Given the description of an element on the screen output the (x, y) to click on. 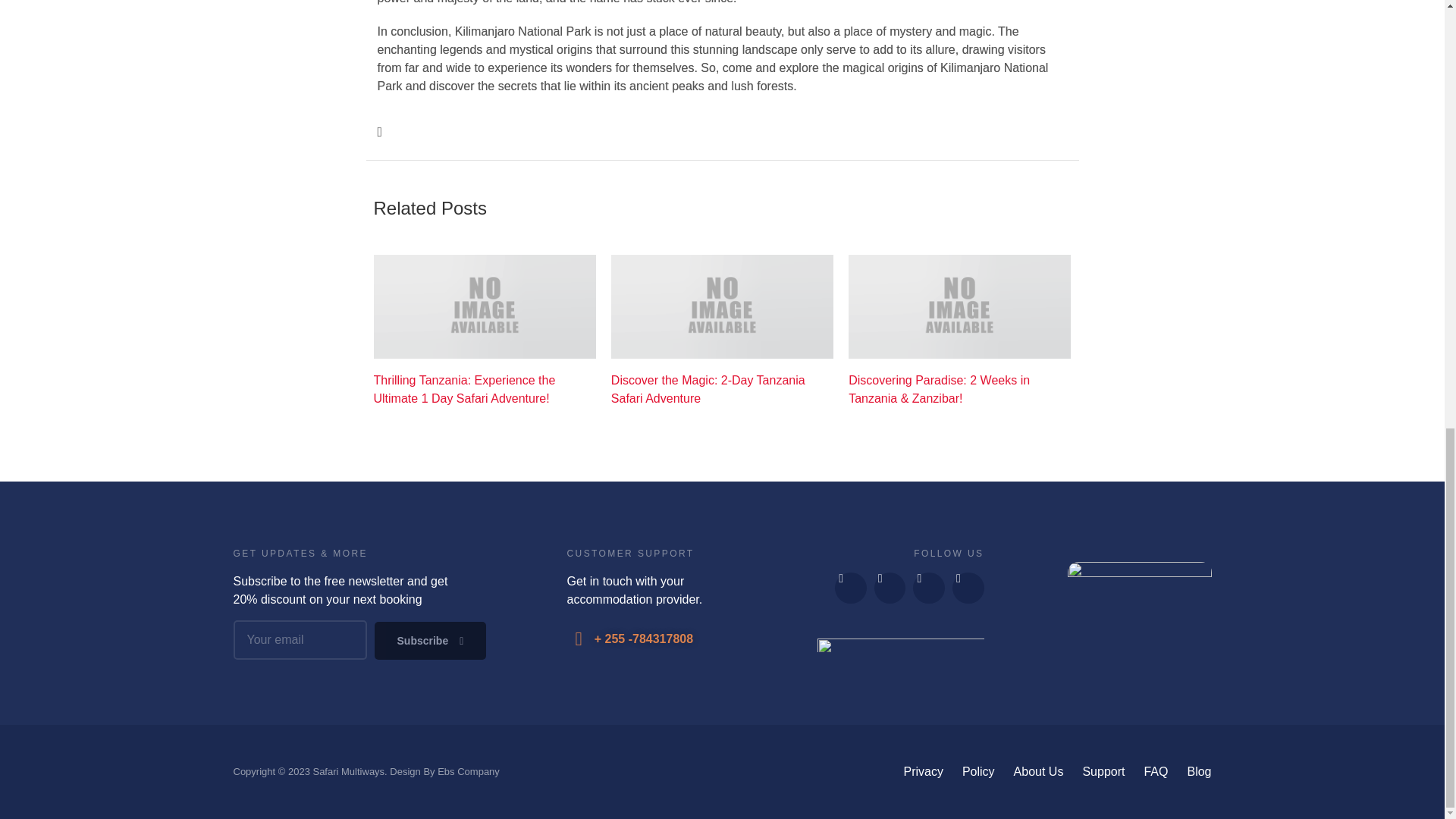
Subscribe (430, 640)
Support (1102, 771)
Discover the Magic: 2-Day Tanzania Safari Adventure (721, 389)
